Given the description of an element on the screen output the (x, y) to click on. 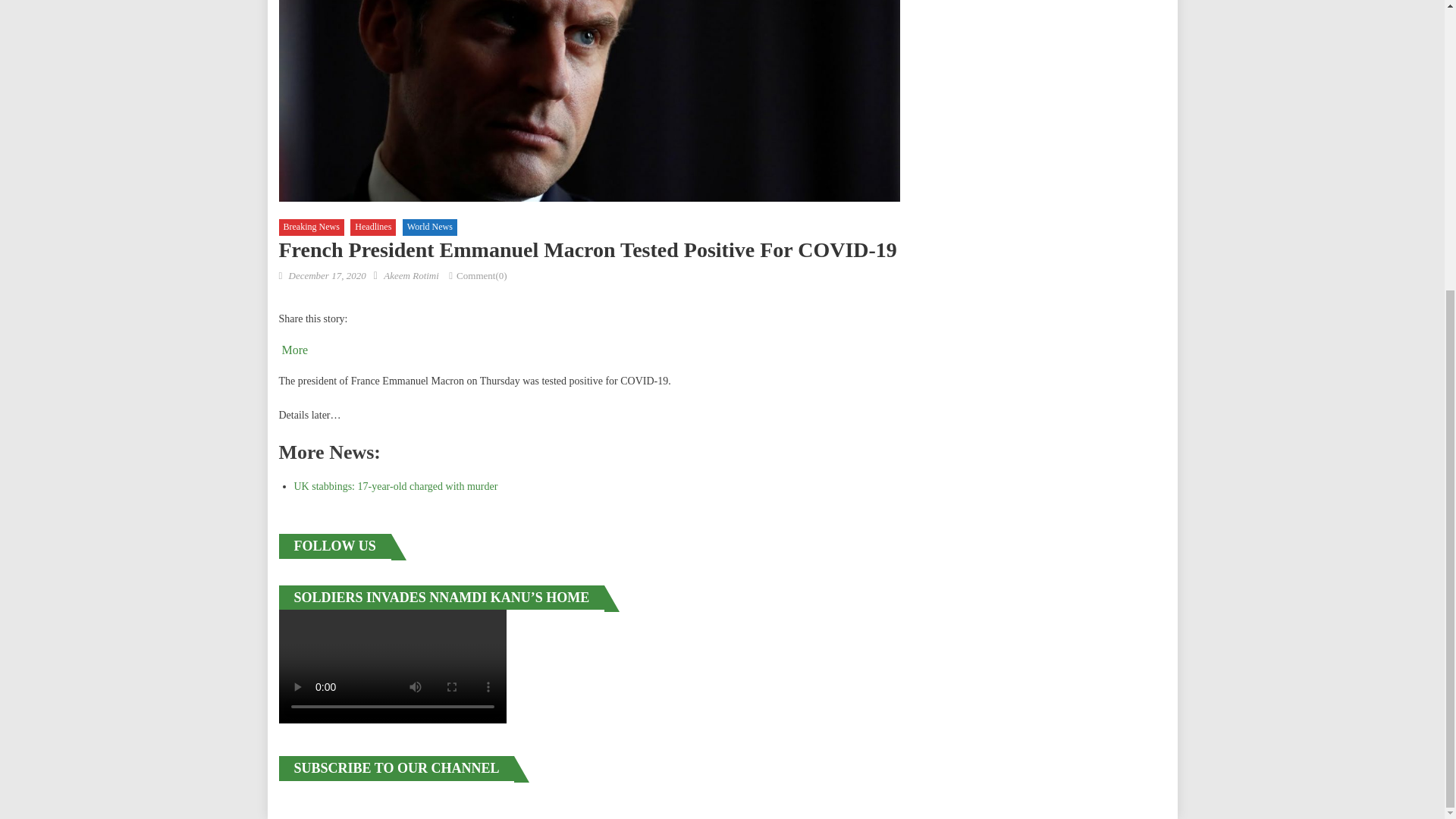
December 17, 2020 (326, 275)
World News (430, 227)
Breaking News (311, 227)
Akeem Rotimi (411, 275)
Headlines (373, 227)
